Given the description of an element on the screen output the (x, y) to click on. 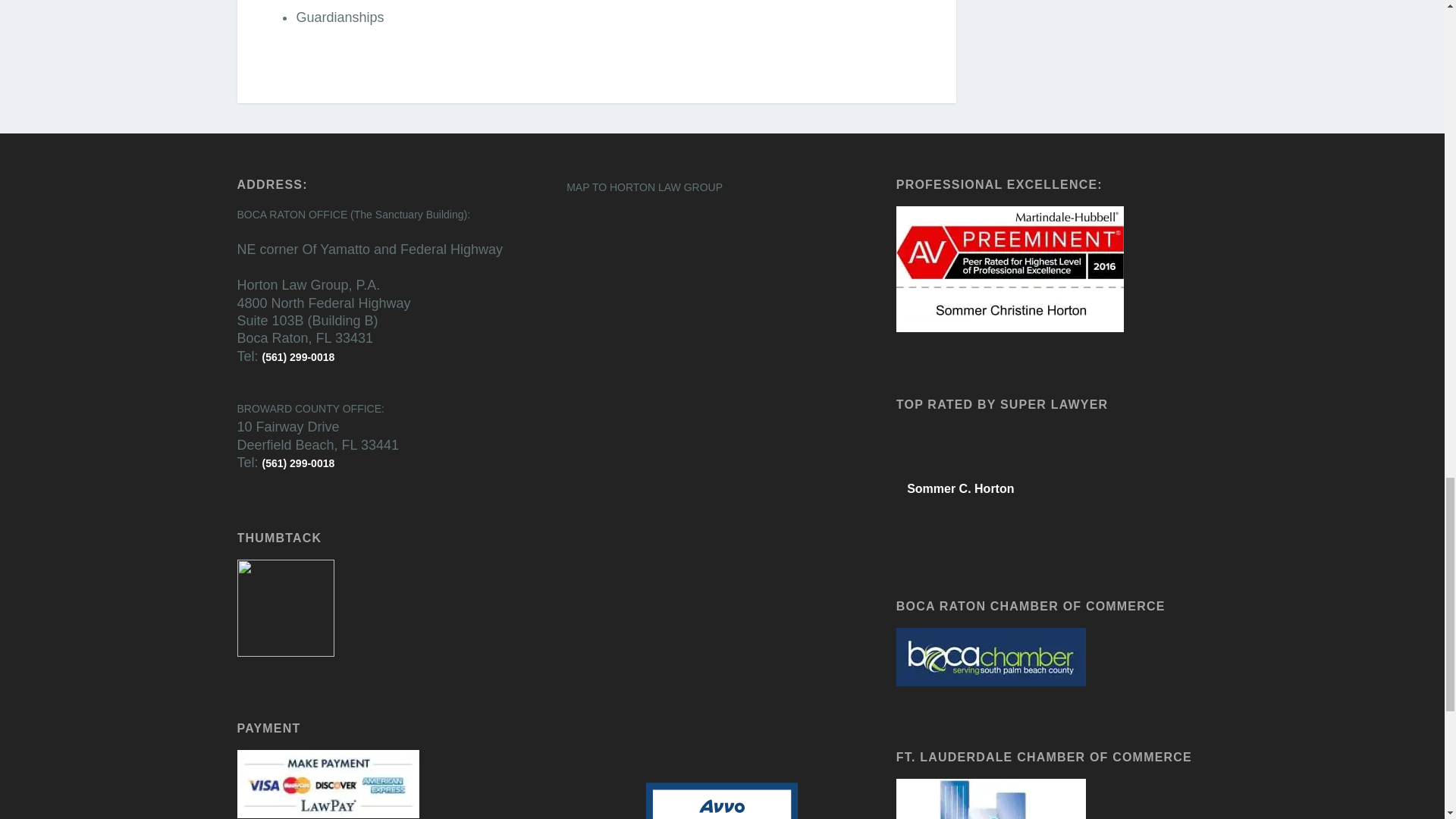
Visit the official website of Super Lawyers (953, 525)
